Given the description of an element on the screen output the (x, y) to click on. 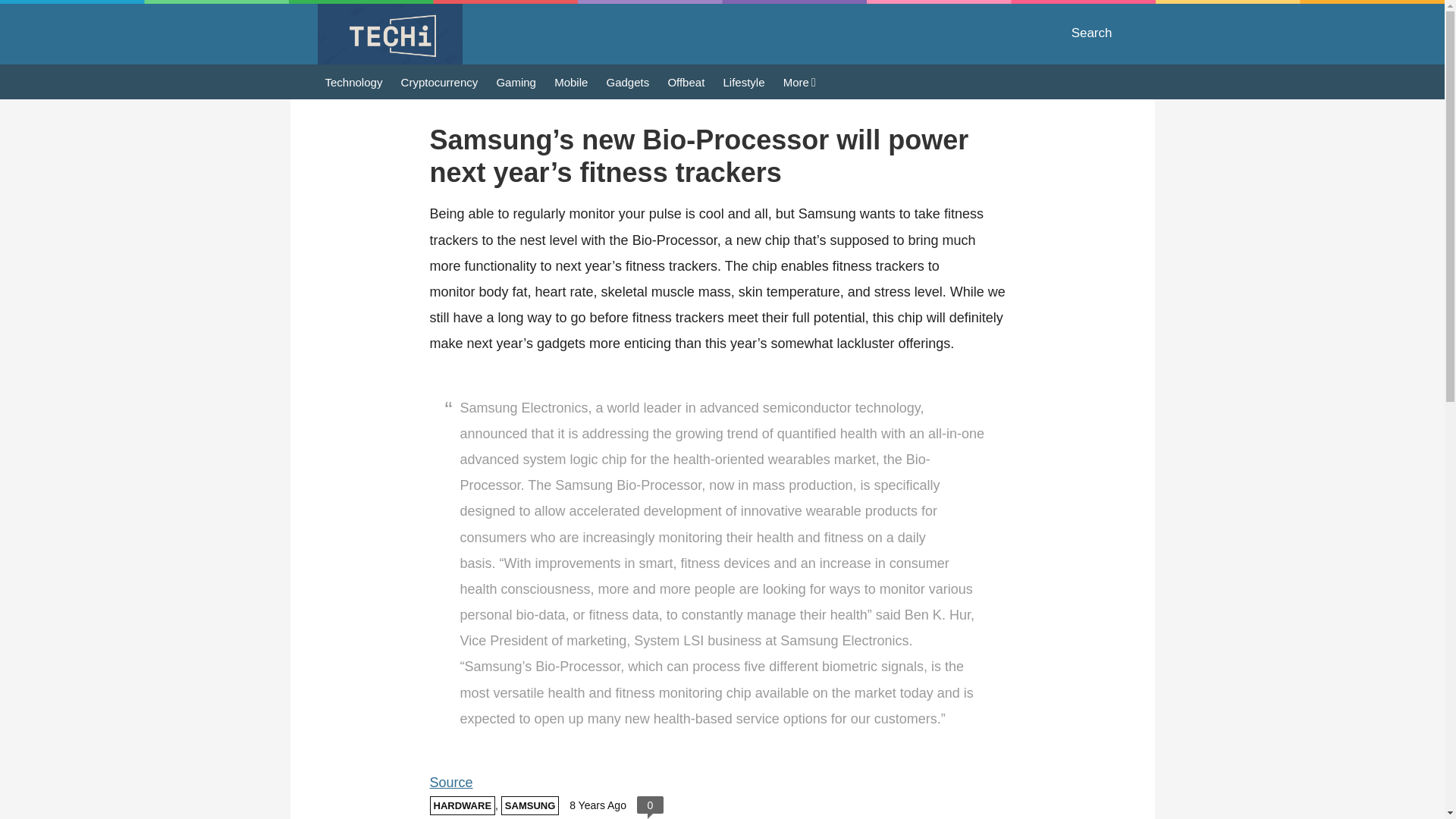
Offbeat (685, 81)
Gaming (515, 81)
TECH INTELLIGENCE (389, 34)
Lifestyle (744, 81)
More (800, 81)
Technology (353, 81)
Mobile (571, 81)
Source (450, 782)
Gadgets (628, 81)
0 (649, 805)
Cryptocurrency (439, 81)
SAMSUNG (529, 805)
HARDWARE (462, 805)
